Given the description of an element on the screen output the (x, y) to click on. 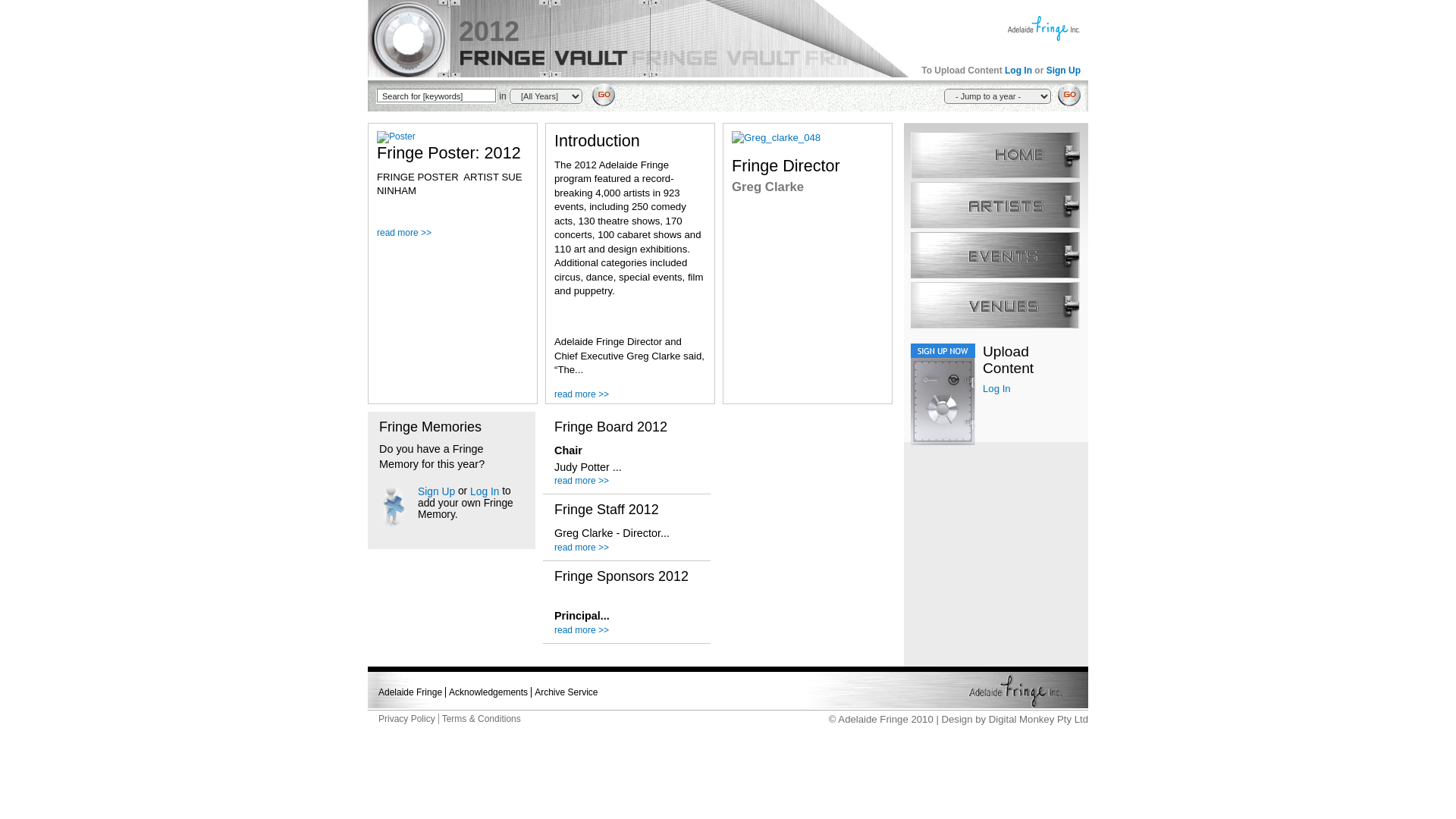
Digital Monkey Pty Ltd Element type: text (1038, 718)
Greg Clarke Element type: hover (775, 137)
Sign Up Element type: text (436, 491)
Adelaide fringe Element type: text (944, 689)
read more >> Element type: text (581, 629)
Log In Element type: text (484, 491)
Venues Element type: text (994, 305)
Log In Element type: text (996, 388)
Acknowledgements Element type: text (487, 692)
read more >> Element type: text (581, 480)
Adelaide Fringe Element type: text (1043, 26)
Adelaide Fringe Element type: text (410, 692)
Privacy Policy Element type: text (406, 718)
Fringe Vault Home Element type: text (637, 40)
Go Element type: text (1065, 94)
2012 Element type: text (488, 31)
Terms & Conditions Element type: text (481, 718)
read more >> Element type: text (581, 547)
Sign Up Element type: text (1063, 70)
read more >> Element type: text (581, 394)
Home Page Element type: text (994, 154)
Log In Element type: text (1018, 70)
Archive Service Element type: text (565, 692)
Events Element type: text (994, 255)
Artists Element type: text (994, 205)
Adelaide Fringe 2010 Element type: text (884, 718)
read more >> Element type: text (403, 232)
